Given the description of an element on the screen output the (x, y) to click on. 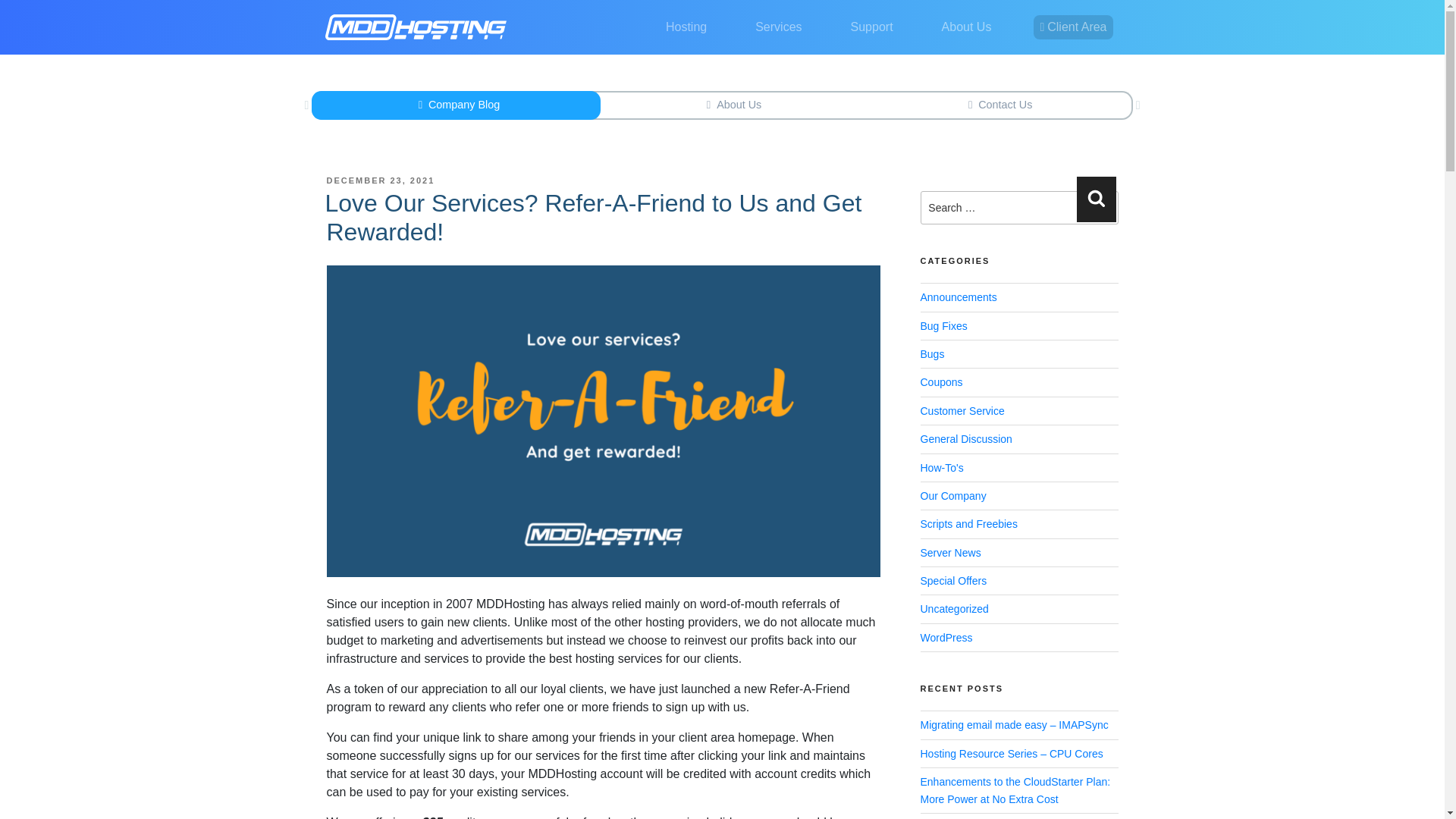
About Us (966, 27)
About Us (730, 104)
Contact Us (996, 104)
DECEMBER 23, 2021 (379, 180)
Services (778, 27)
Client Area (1072, 27)
Support (871, 27)
Love Our Services? Refer-A-Friend to Us and Get Rewarded! (592, 217)
Hosting (686, 27)
Company Blog (455, 104)
